Given the description of an element on the screen output the (x, y) to click on. 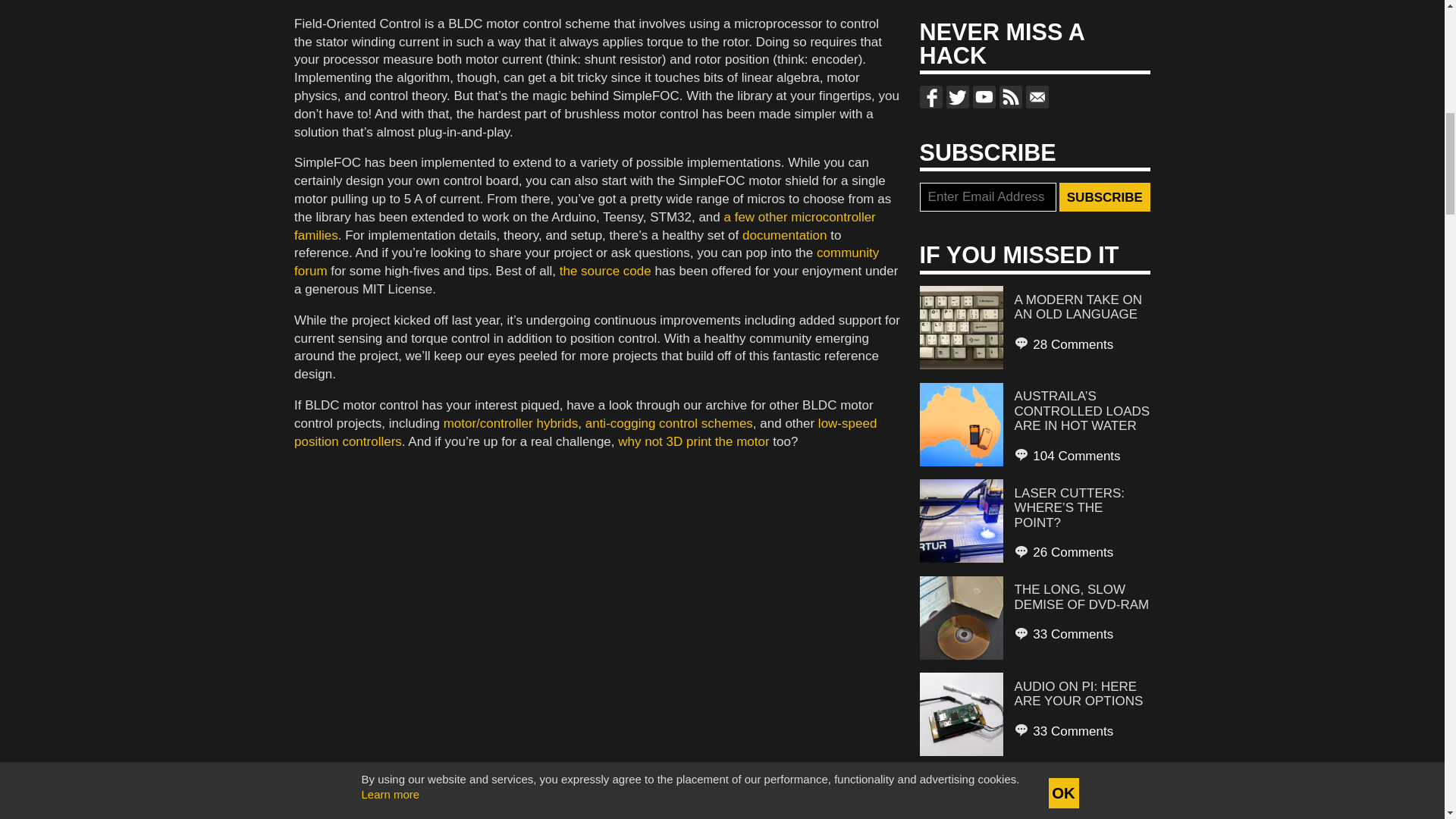
anti-cogging control schemes (668, 423)
a few other microcontroller families (585, 225)
documentation (784, 235)
low-speed position controllers (585, 432)
why not 3D print the motor (692, 441)
the source code (604, 270)
Subscribe (1104, 196)
community forum (586, 261)
